Given the description of an element on the screen output the (x, y) to click on. 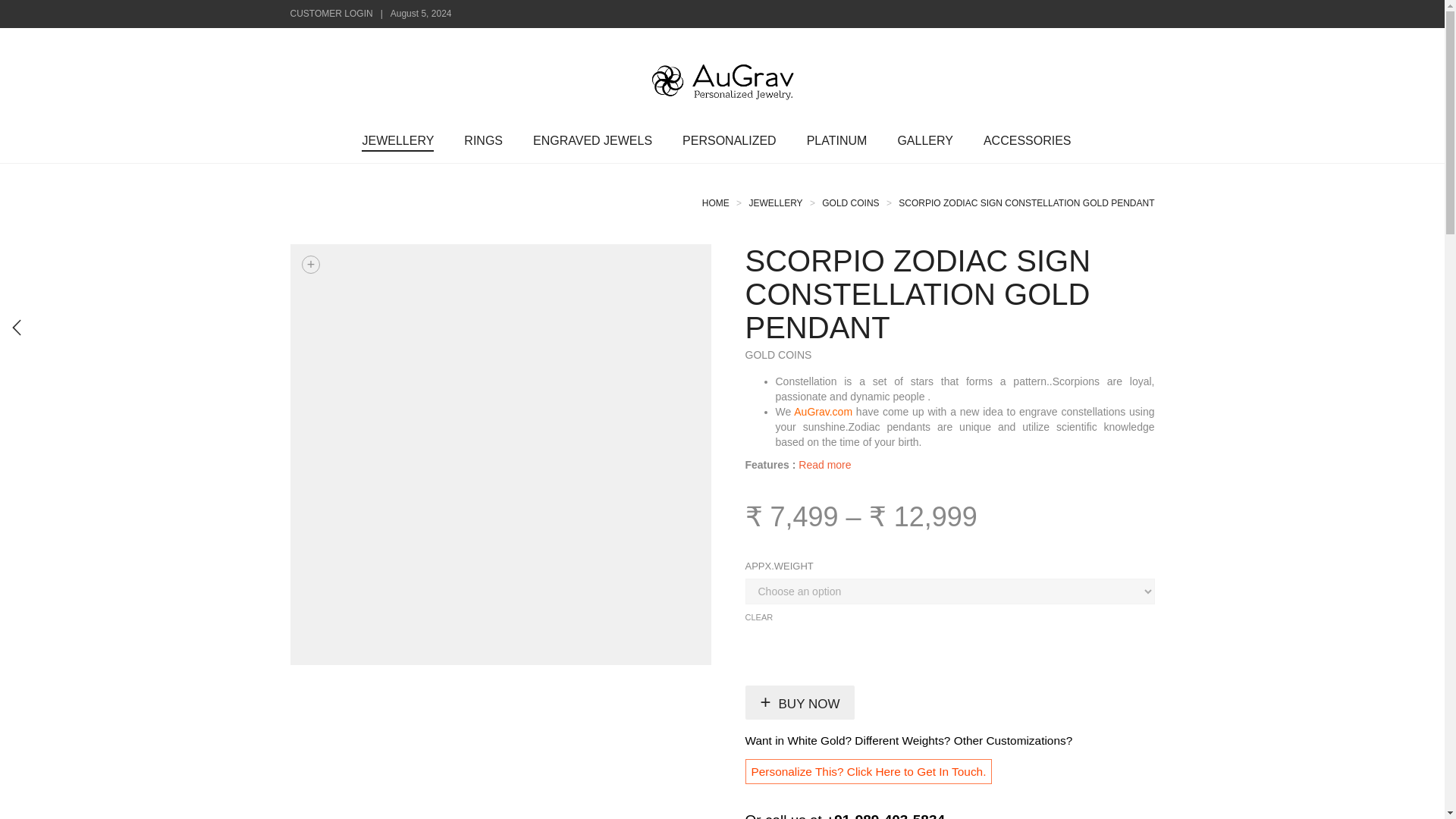
Go to Scorpio Zodiac Sign Constellation Gold Pendant. (1026, 203)
RINGS (483, 141)
JEWELLERY (397, 141)
Go to the Gold Coins Product Category archives. (850, 203)
CUSTOMER LOGIN (330, 13)
View full size (310, 264)
Go to Jewellery. (775, 203)
